Given the description of an element on the screen output the (x, y) to click on. 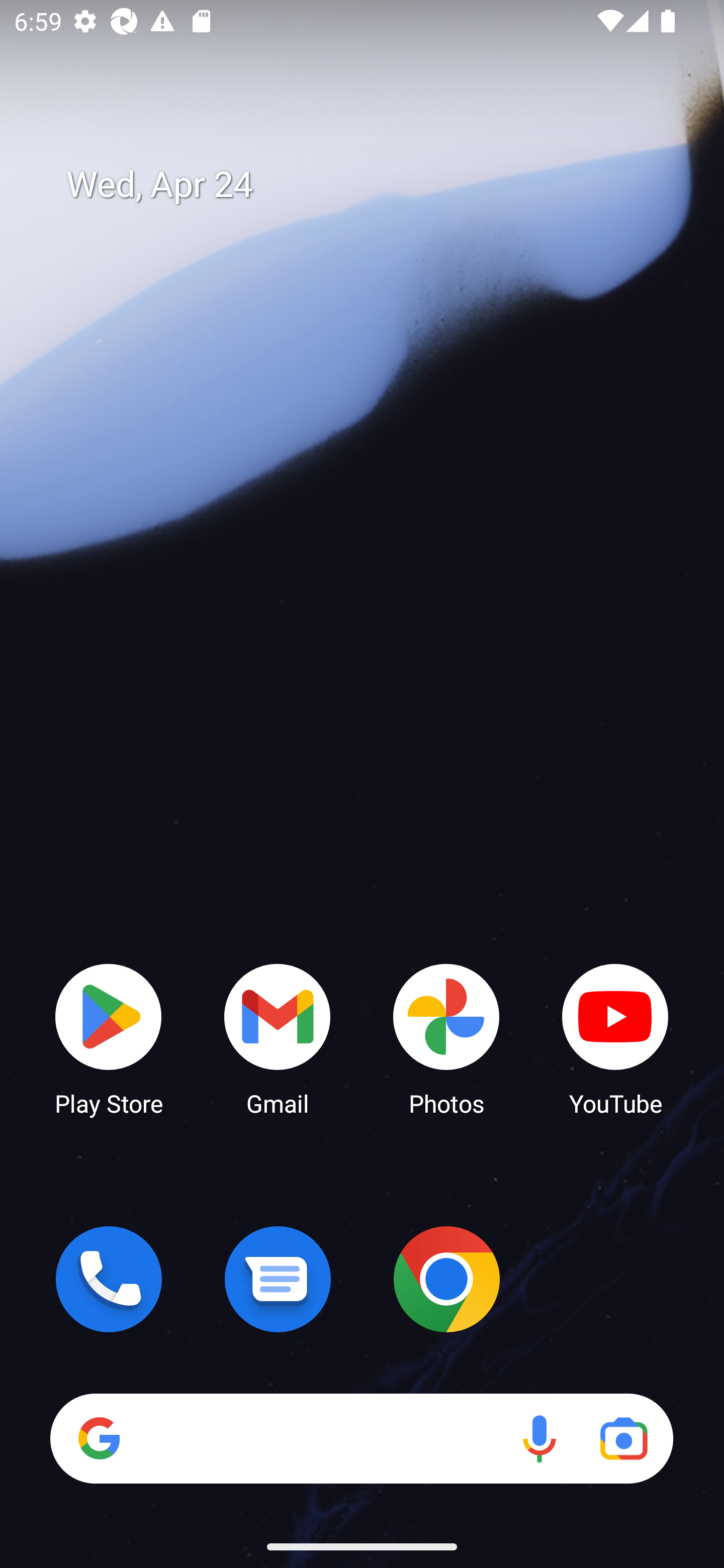
Wed, Apr 24 (375, 184)
Play Store (108, 1038)
Gmail (277, 1038)
Photos (445, 1038)
YouTube (615, 1038)
Phone (108, 1279)
Messages (277, 1279)
Chrome (446, 1279)
Search Voice search Google Lens (361, 1438)
Voice search (539, 1438)
Google Lens (623, 1438)
